Given the description of an element on the screen output the (x, y) to click on. 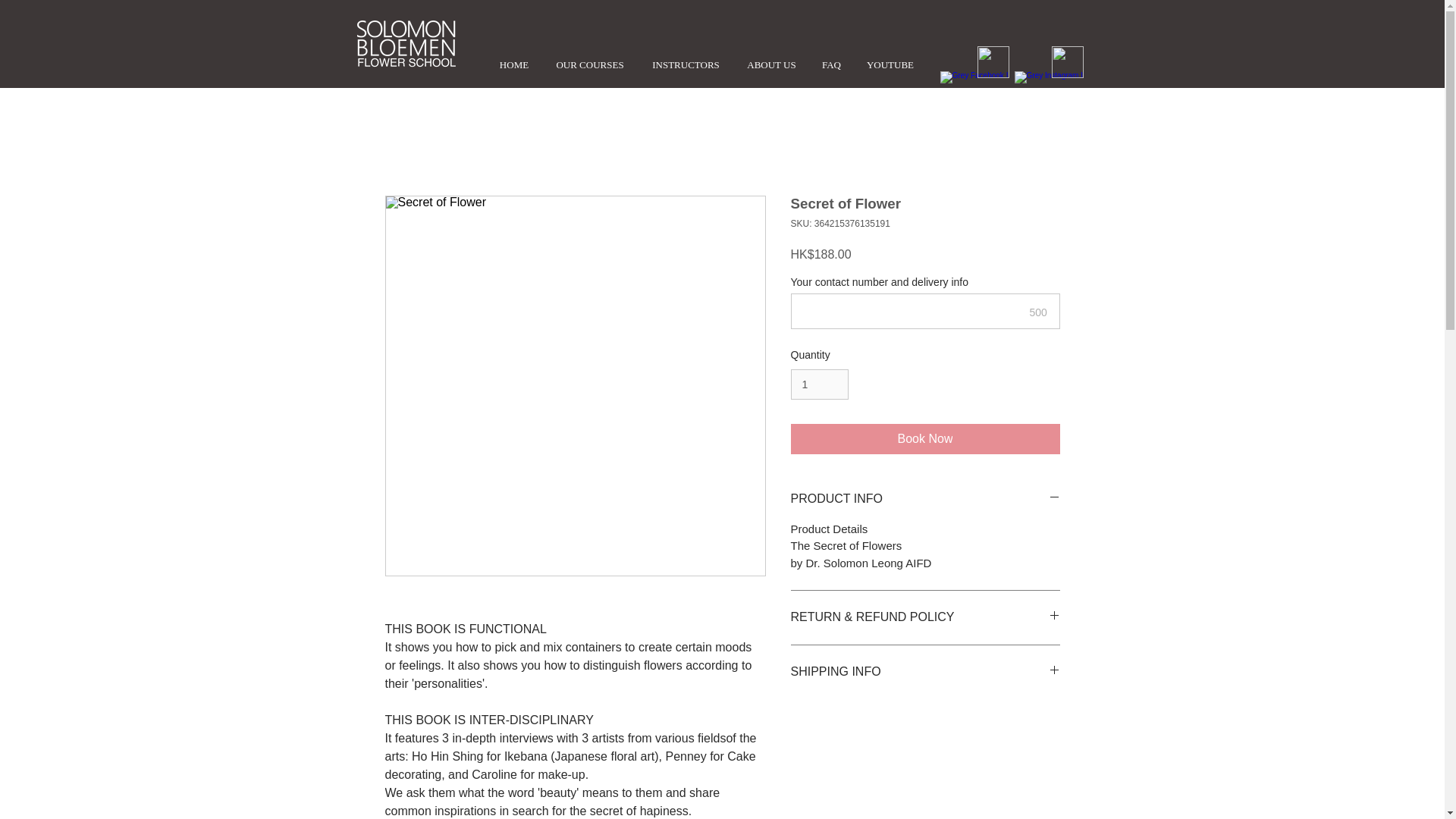
ABOUT US (771, 64)
PRODUCT INFO (924, 498)
YOUTUBE (889, 64)
1 (818, 384)
INSTRUCTORS (685, 64)
FAQ (830, 64)
OUR COURSES (589, 64)
SHIPPING INFO (924, 671)
Book Now (924, 439)
HOME (513, 64)
